Given the description of an element on the screen output the (x, y) to click on. 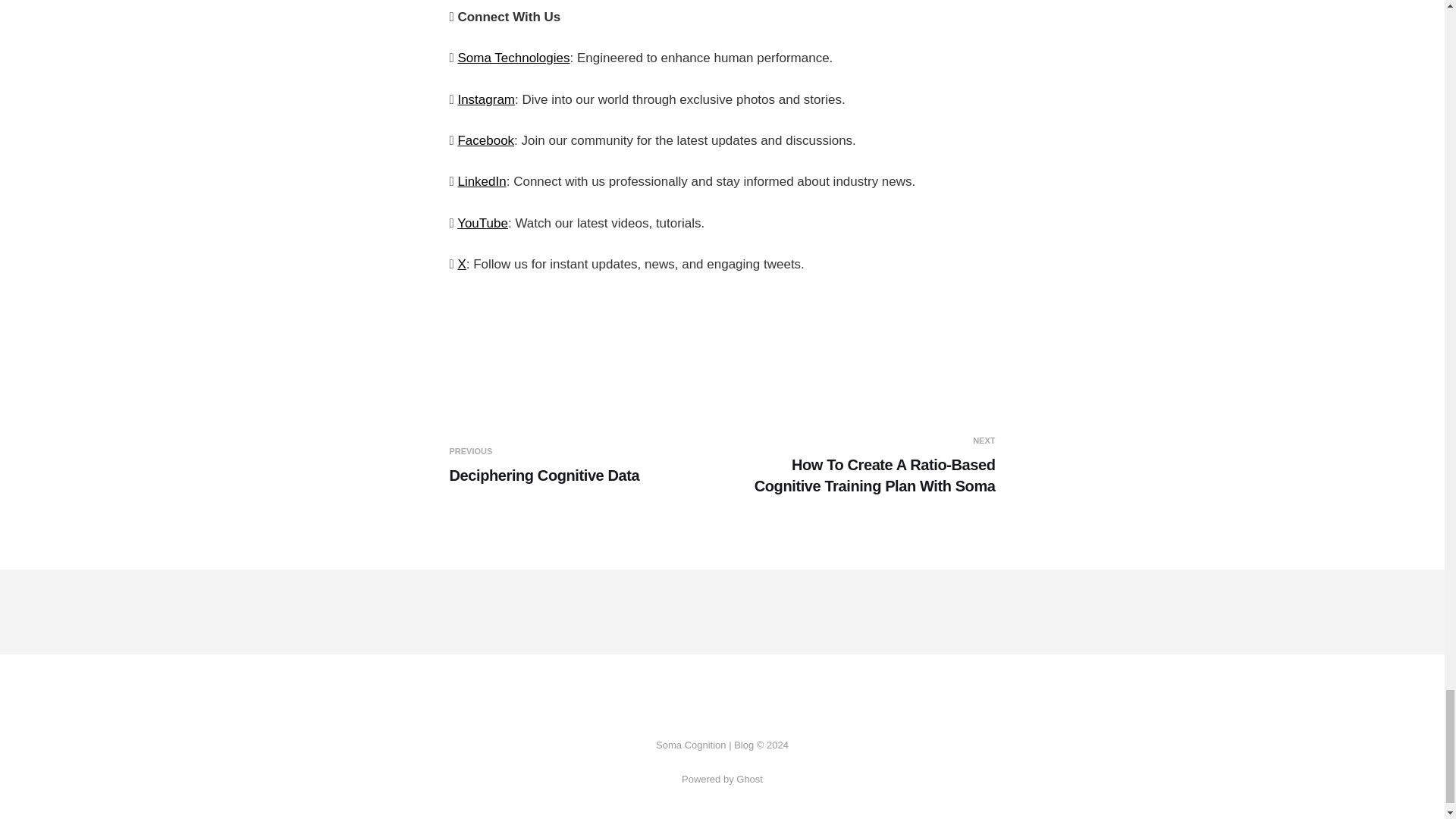
YouTube (482, 223)
Instagram (582, 465)
Powered by Ghost (486, 99)
Facebook (721, 778)
LinkedIn (485, 140)
Soma Technologies (481, 181)
